Given the description of an element on the screen output the (x, y) to click on. 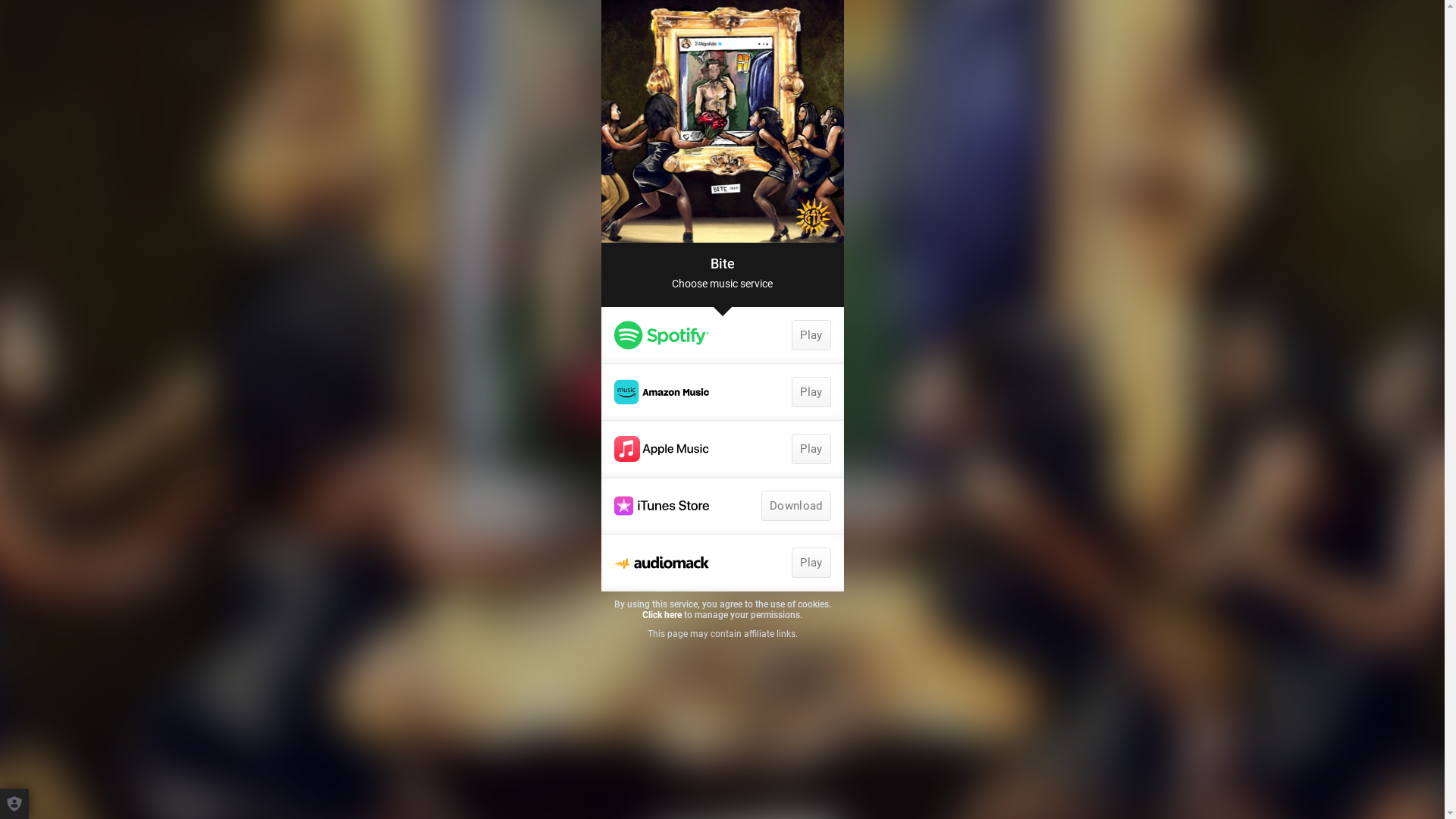
Download Element type: text (721, 505)
Play Element type: text (721, 562)
Play Element type: text (810, 562)
Play Element type: text (721, 392)
Download Element type: text (795, 505)
Click to view services Element type: hover (721, 121)
Bite
Choose music service Element type: text (721, 274)
Play Element type: text (810, 335)
Play Element type: text (721, 335)
Play Element type: text (810, 448)
Click here Element type: text (661, 614)
Play Element type: text (810, 391)
Play Element type: text (721, 448)
